Given the description of an element on the screen output the (x, y) to click on. 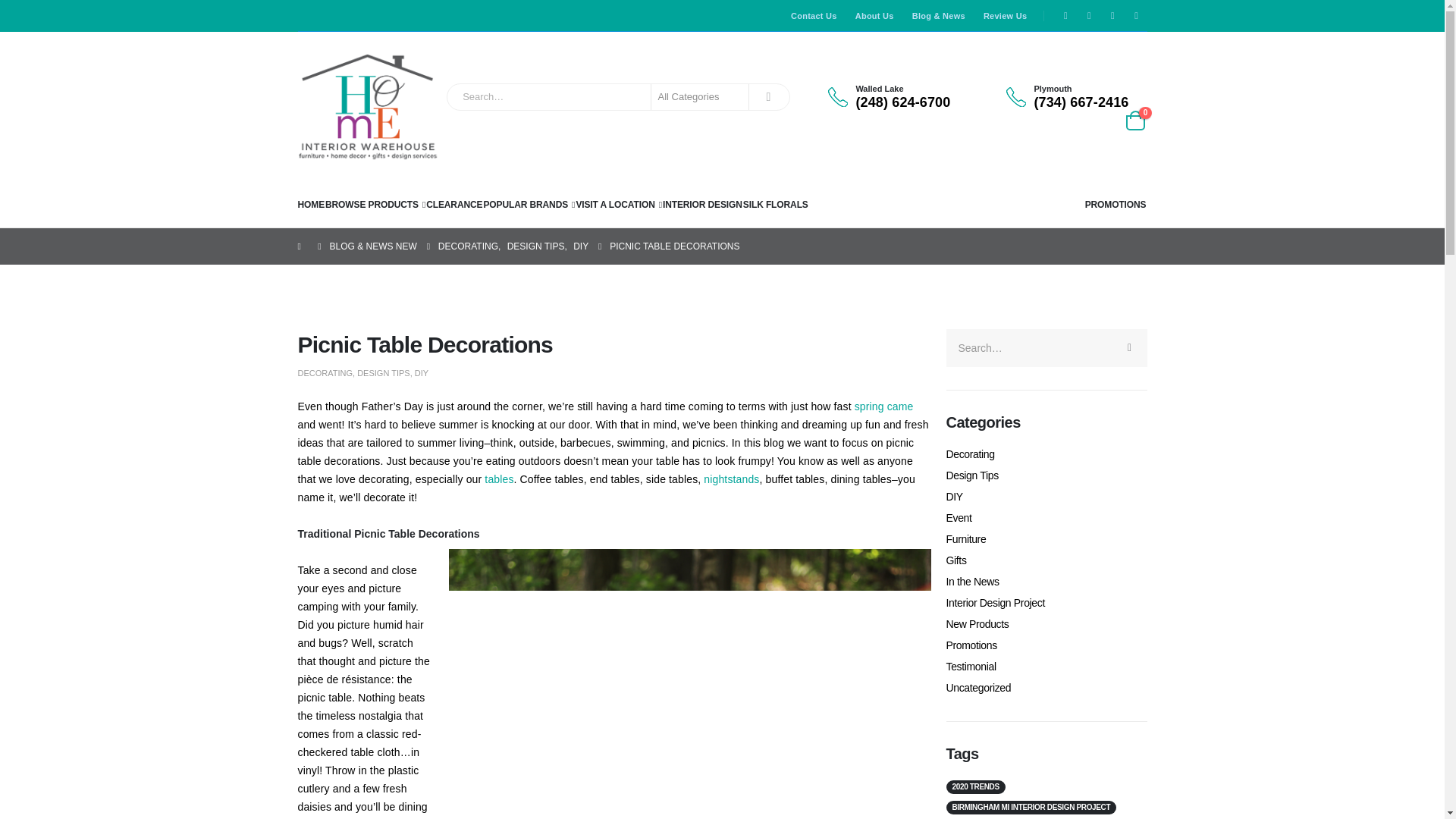
Youtube (1112, 15)
Pinterest (1088, 15)
Instagram (1136, 15)
BROWSE PRODUCTS (374, 204)
Facebook (1065, 15)
About Us (871, 15)
Search (767, 96)
Contact Us (810, 15)
Review Us (1001, 15)
